Given the description of an element on the screen output the (x, y) to click on. 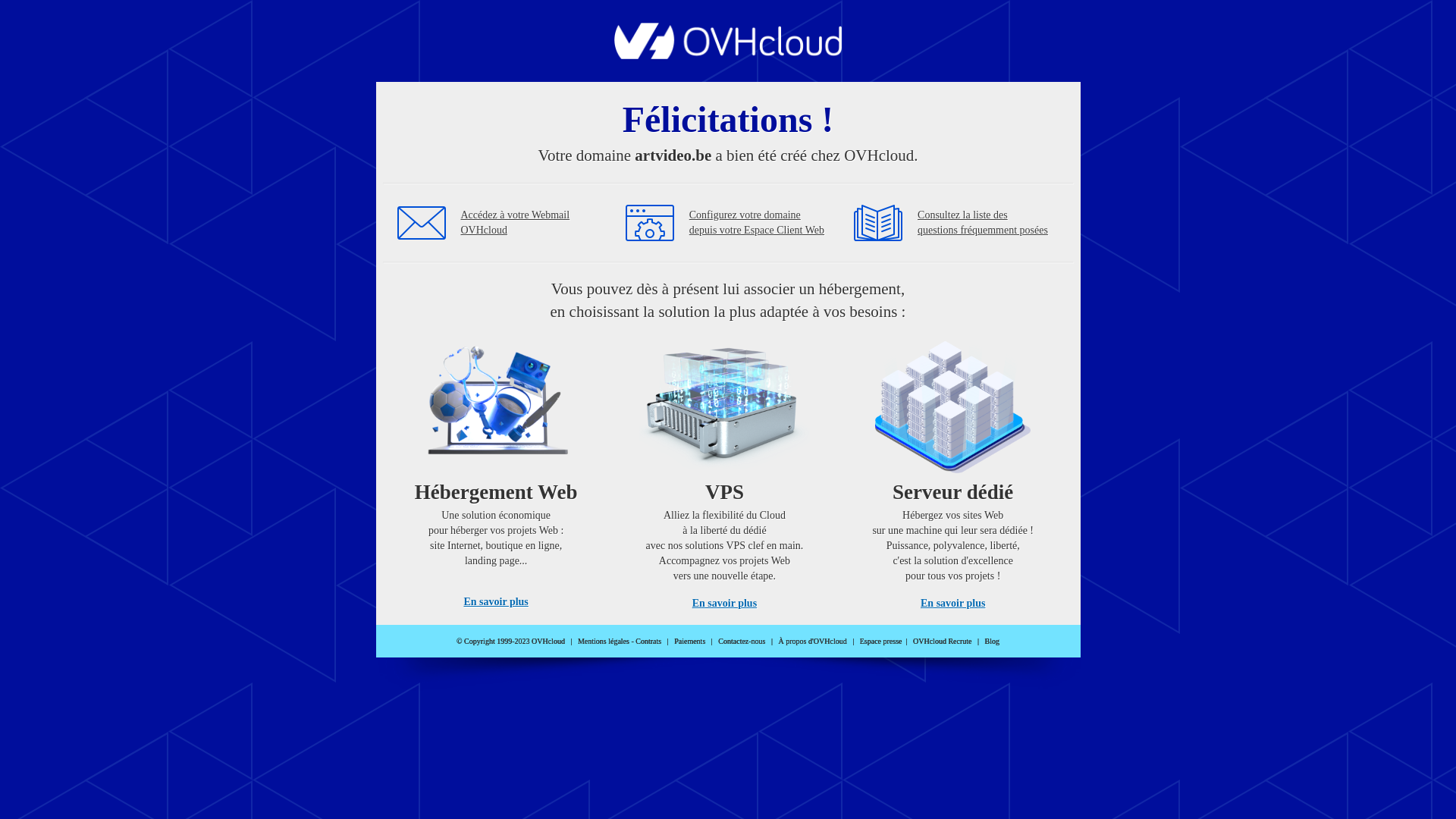
Blog Element type: text (992, 641)
Configurez votre domaine
depuis votre Espace Client Web Element type: text (756, 222)
OVHcloud Element type: hover (727, 54)
En savoir plus Element type: text (952, 602)
VPS Element type: hover (724, 469)
Espace presse Element type: text (880, 641)
En savoir plus Element type: text (495, 601)
En savoir plus Element type: text (724, 602)
Contactez-nous Element type: text (741, 641)
Paiements Element type: text (689, 641)
OVHcloud Recrute Element type: text (942, 641)
